Given the description of an element on the screen output the (x, y) to click on. 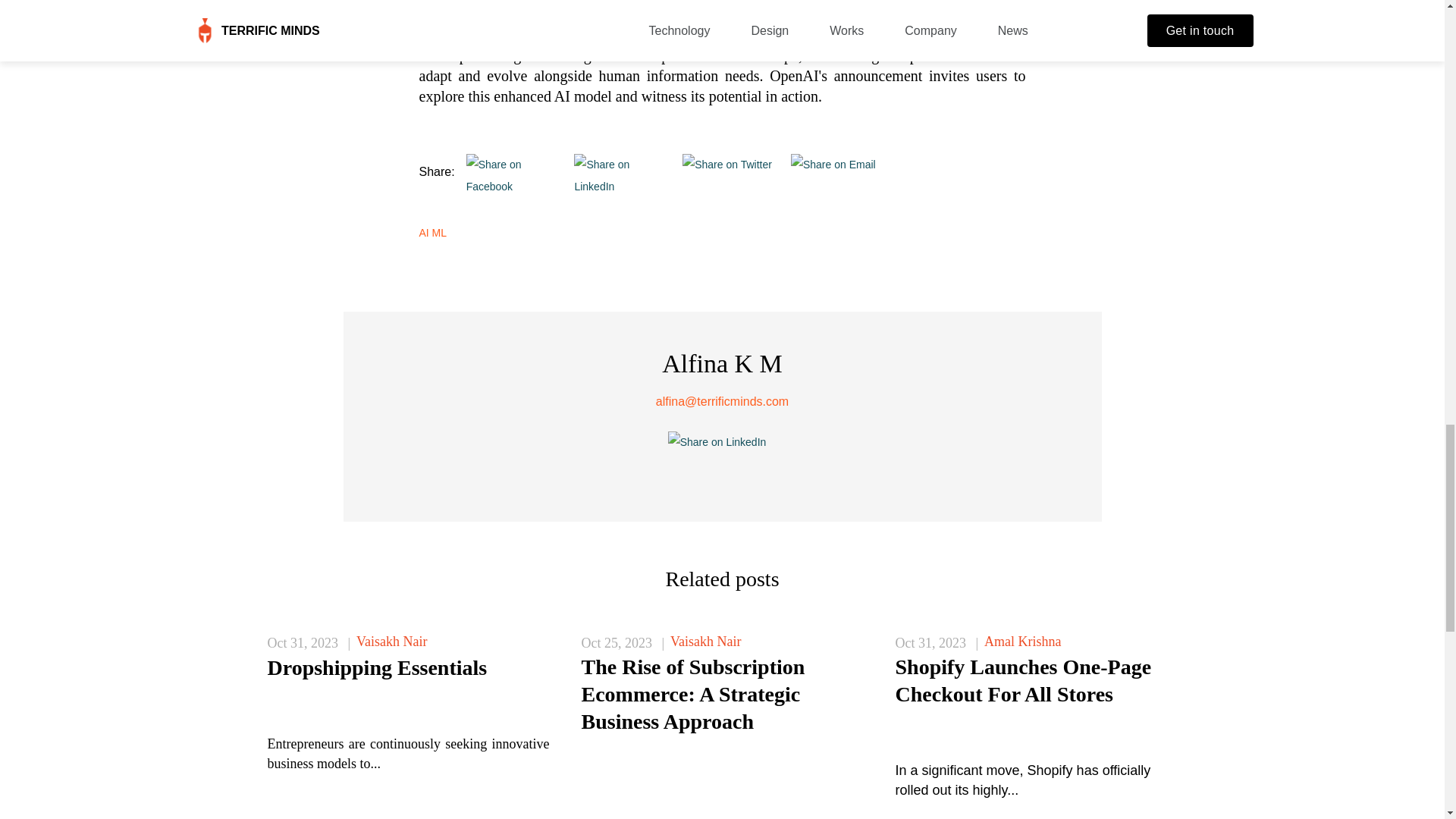
AI ML (436, 232)
Alfina K M (722, 363)
Vaisakh Nair (705, 641)
Vaisakh Nair (391, 641)
Dropshipping Essentials (376, 667)
